Given the description of an element on the screen output the (x, y) to click on. 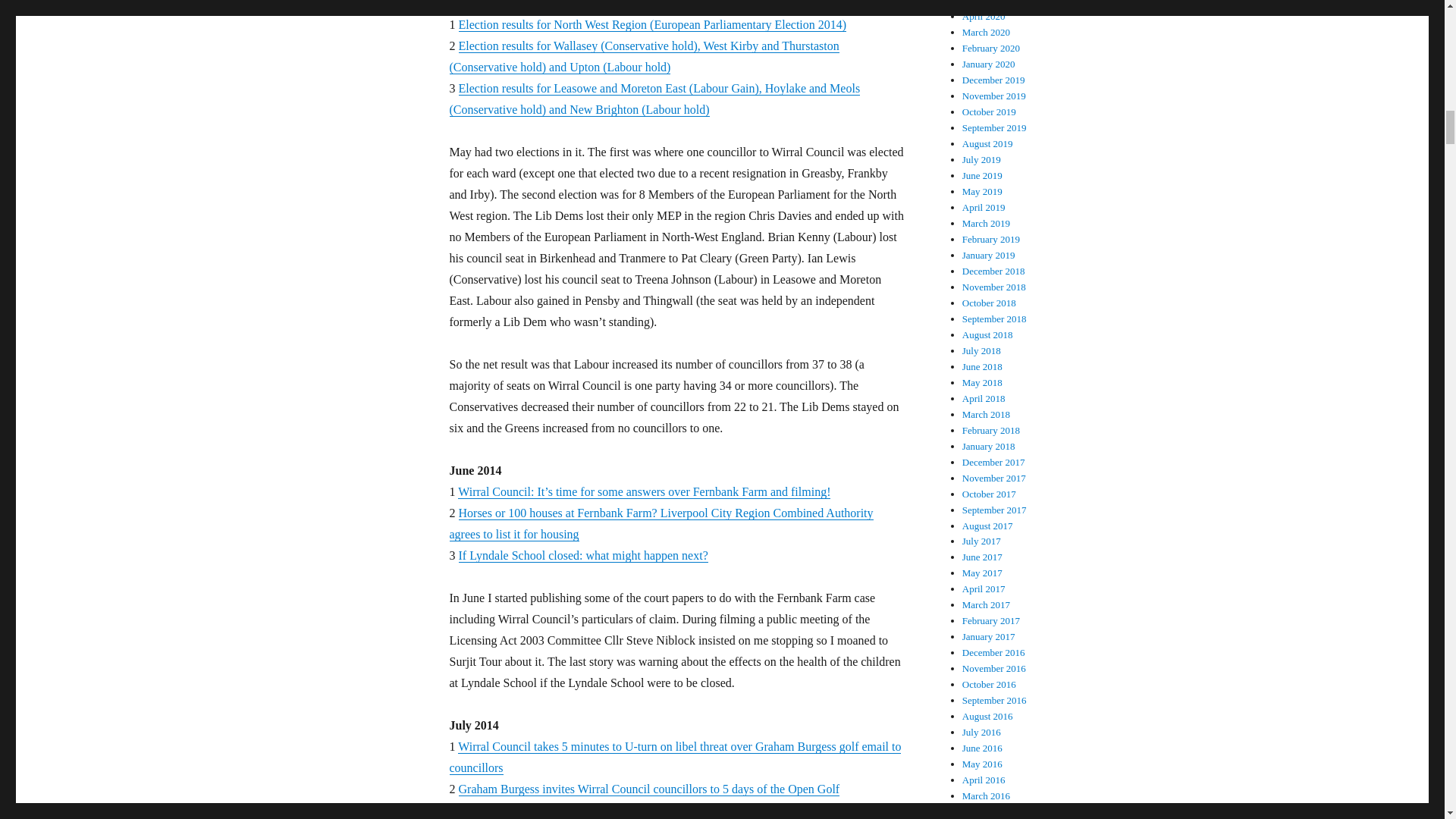
If Lyndale School closed: what might happen next? (582, 554)
